Given the description of an element on the screen output the (x, y) to click on. 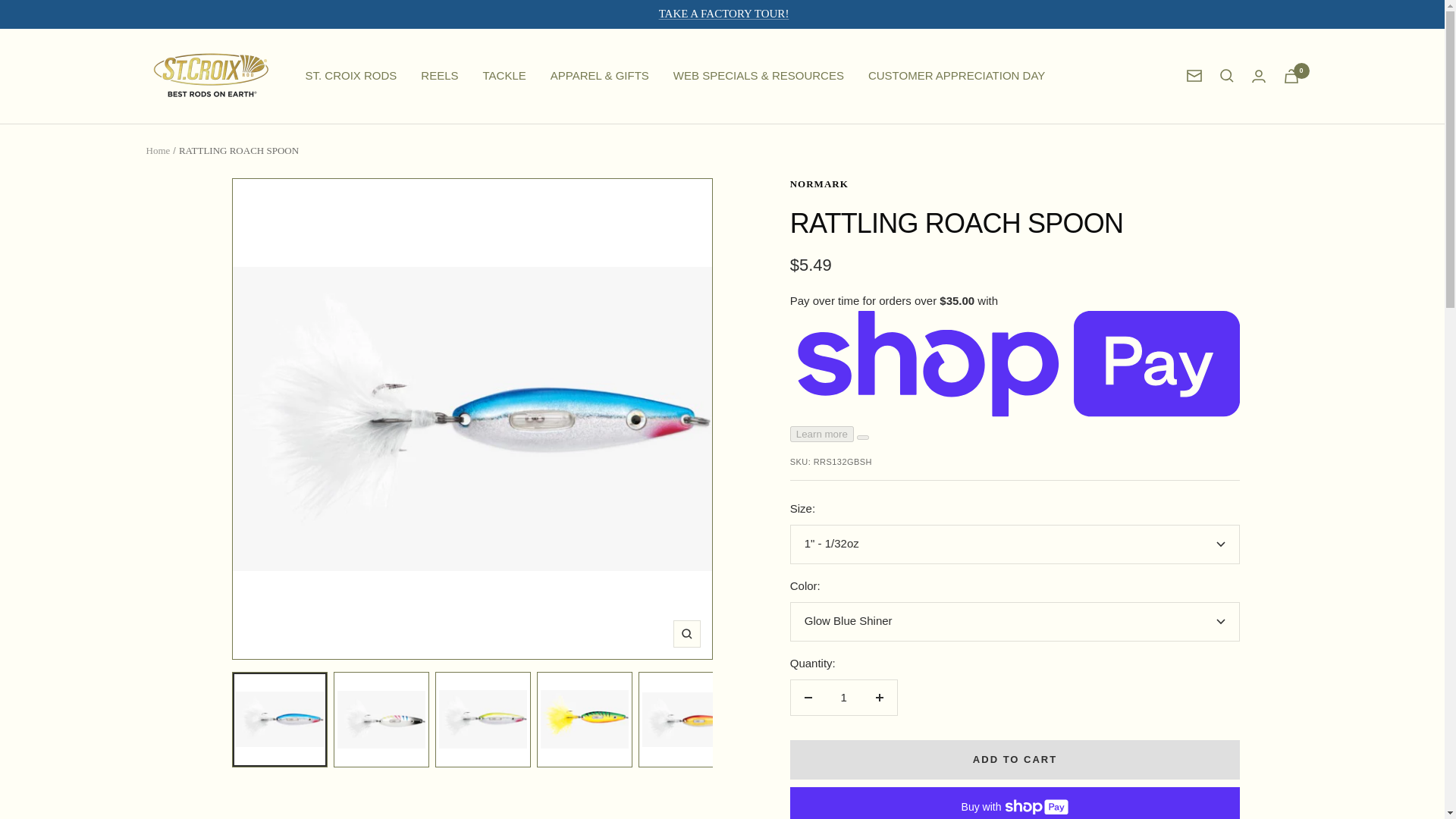
0 (1290, 75)
TAKE A FACTORY TOUR! (724, 14)
St. Croix Rods - Factory Store (210, 76)
REELS (439, 76)
Home (157, 150)
1 (843, 697)
CUSTOMER APPRECIATION DAY (956, 76)
Zoom (686, 633)
Newsletter (1193, 75)
TACKLE (504, 76)
ST. CROIX RODS (350, 76)
